Given the description of an element on the screen output the (x, y) to click on. 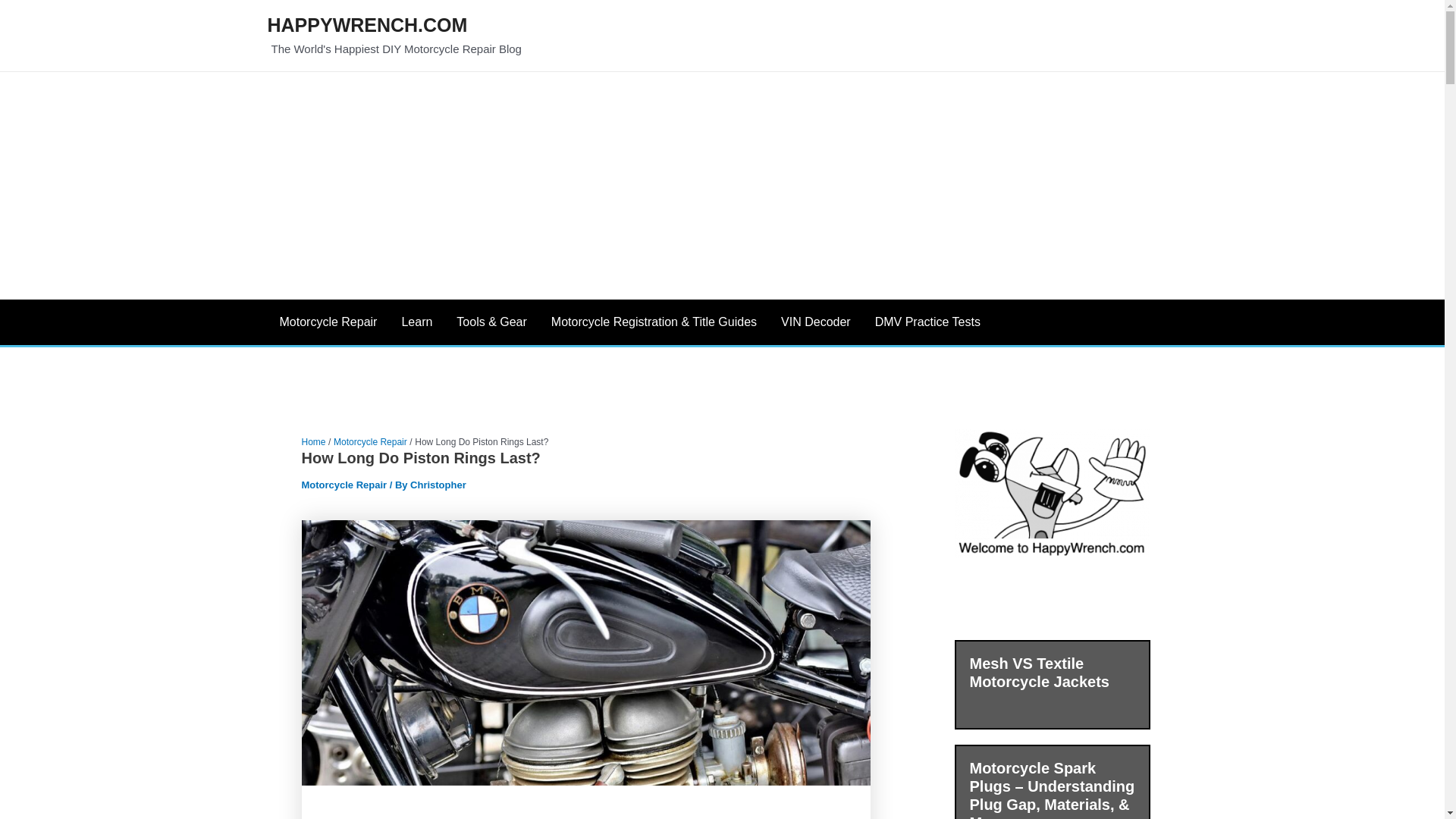
Learn (416, 321)
Home (313, 441)
Motorcycle Repair (344, 484)
VIN Decoder (815, 321)
HAPPYWRENCH.COM (366, 25)
Motorcycle Repair (327, 321)
Motorcycle Repair (370, 441)
Christopher (437, 484)
Mesh VS Textile Motorcycle Jackets (1038, 672)
DMV Practice Tests (927, 321)
